Given the description of an element on the screen output the (x, y) to click on. 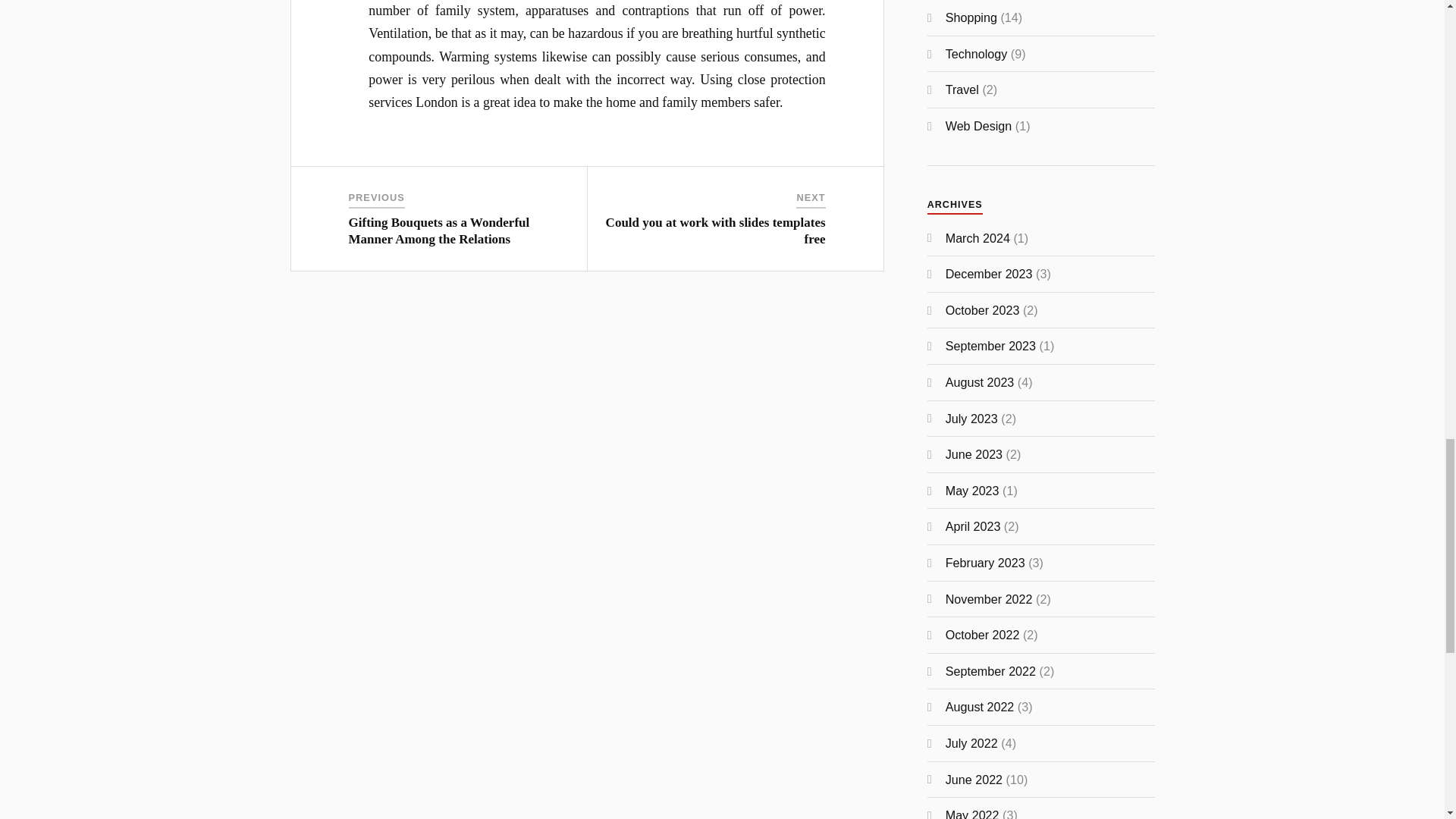
Shopping (970, 17)
Technology (975, 53)
Gifting Bouquets as a Wonderful Manner Among the Relations (439, 230)
Could you at work with slides templates free (715, 230)
